Given the description of an element on the screen output the (x, y) to click on. 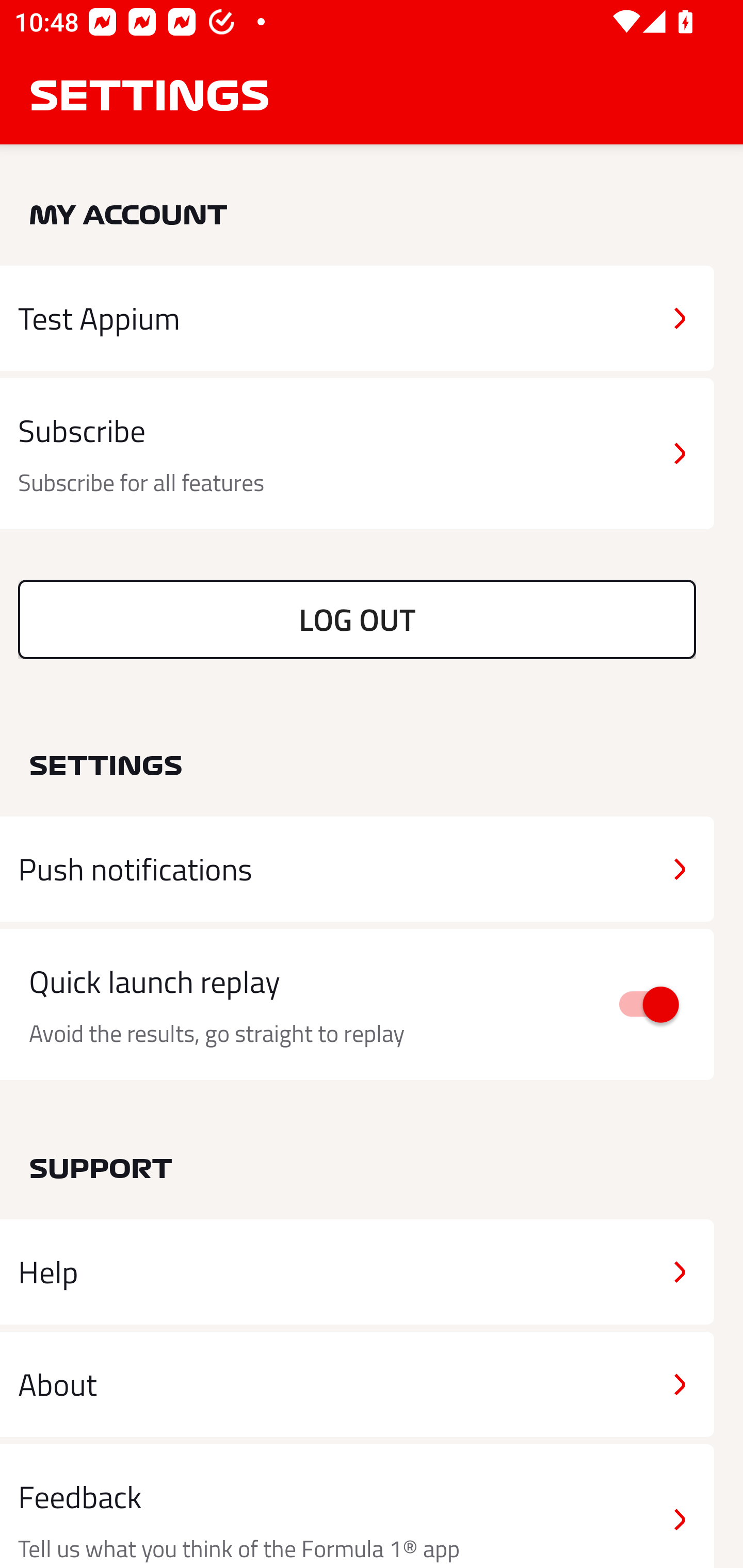
Test Appium (357, 317)
Subscribe Subscribe for all features (357, 453)
LOG OUT (356, 619)
Push notifications (357, 868)
Help (357, 1271)
About (357, 1383)
